Given the description of an element on the screen output the (x, y) to click on. 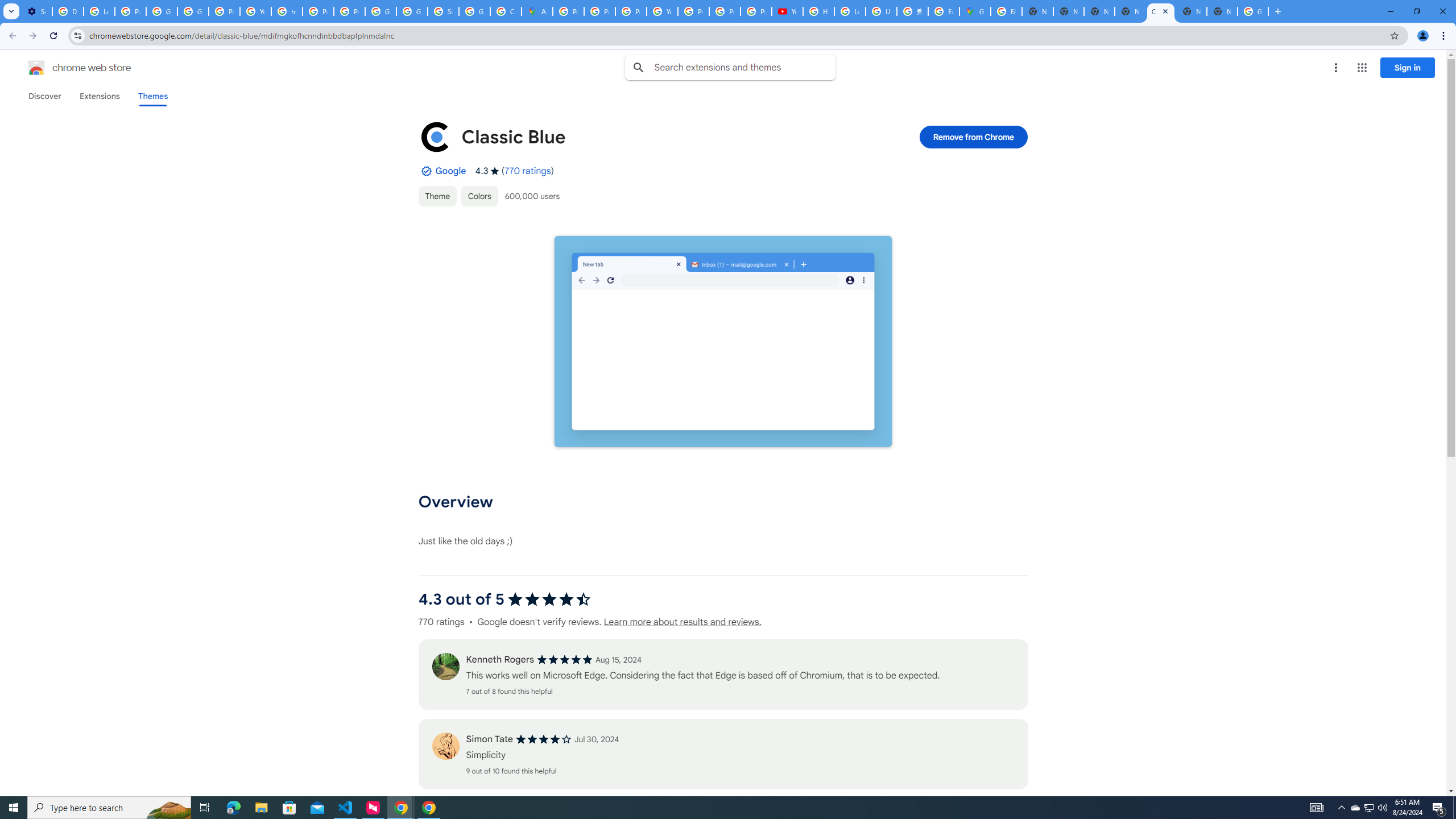
Extensions (99, 95)
Discover (43, 95)
Privacy Help Center - Policies Help (318, 11)
Classic Blue - Chrome Web Store (1160, 11)
New Tab (1222, 11)
Google Account Help (161, 11)
https://scholar.google.com/ (286, 11)
Google Maps (974, 11)
Google Images (1252, 11)
Privacy Help Center - Policies Help (631, 11)
Review's profile picture (445, 746)
Privacy Help Center - Policies Help (599, 11)
